Given the description of an element on the screen output the (x, y) to click on. 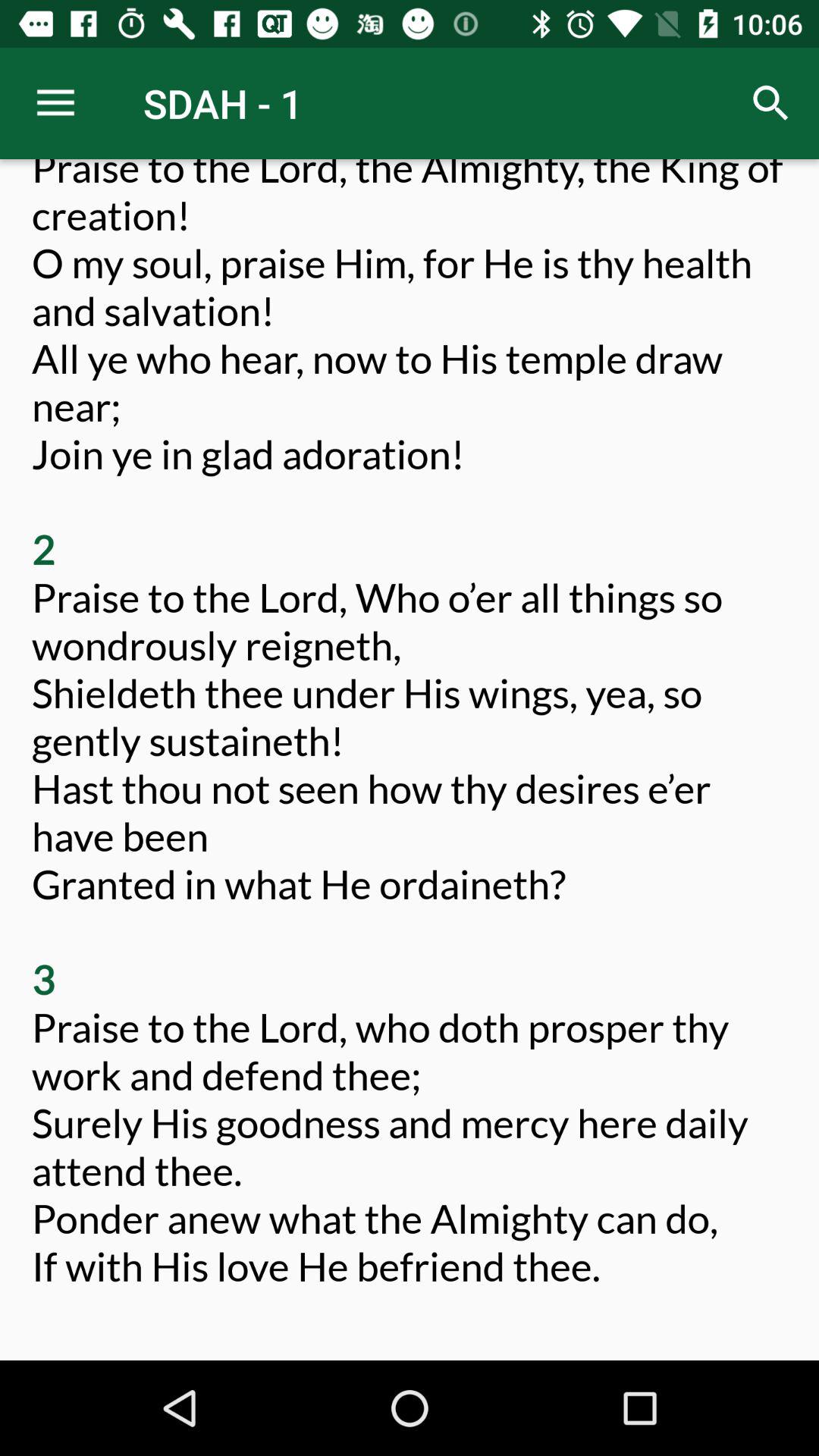
tap icon to the right of sdah - 1 (771, 103)
